Given the description of an element on the screen output the (x, y) to click on. 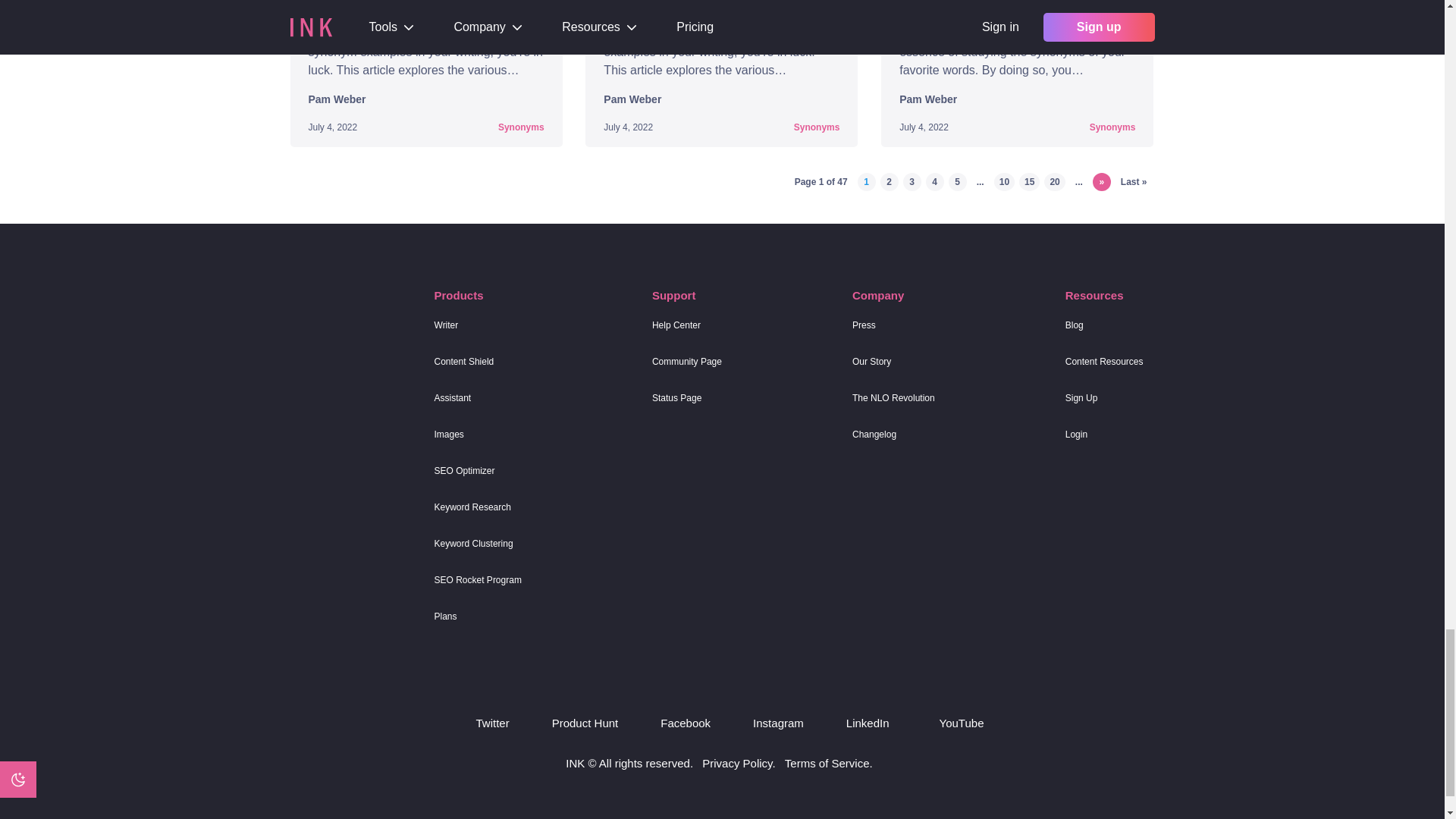
Page 5 (957, 181)
Page 3 (911, 181)
Page 2 (889, 181)
Page 10 (1004, 181)
Page 4 (934, 181)
Page 20 (1053, 181)
Page 15 (1029, 181)
